Given the description of an element on the screen output the (x, y) to click on. 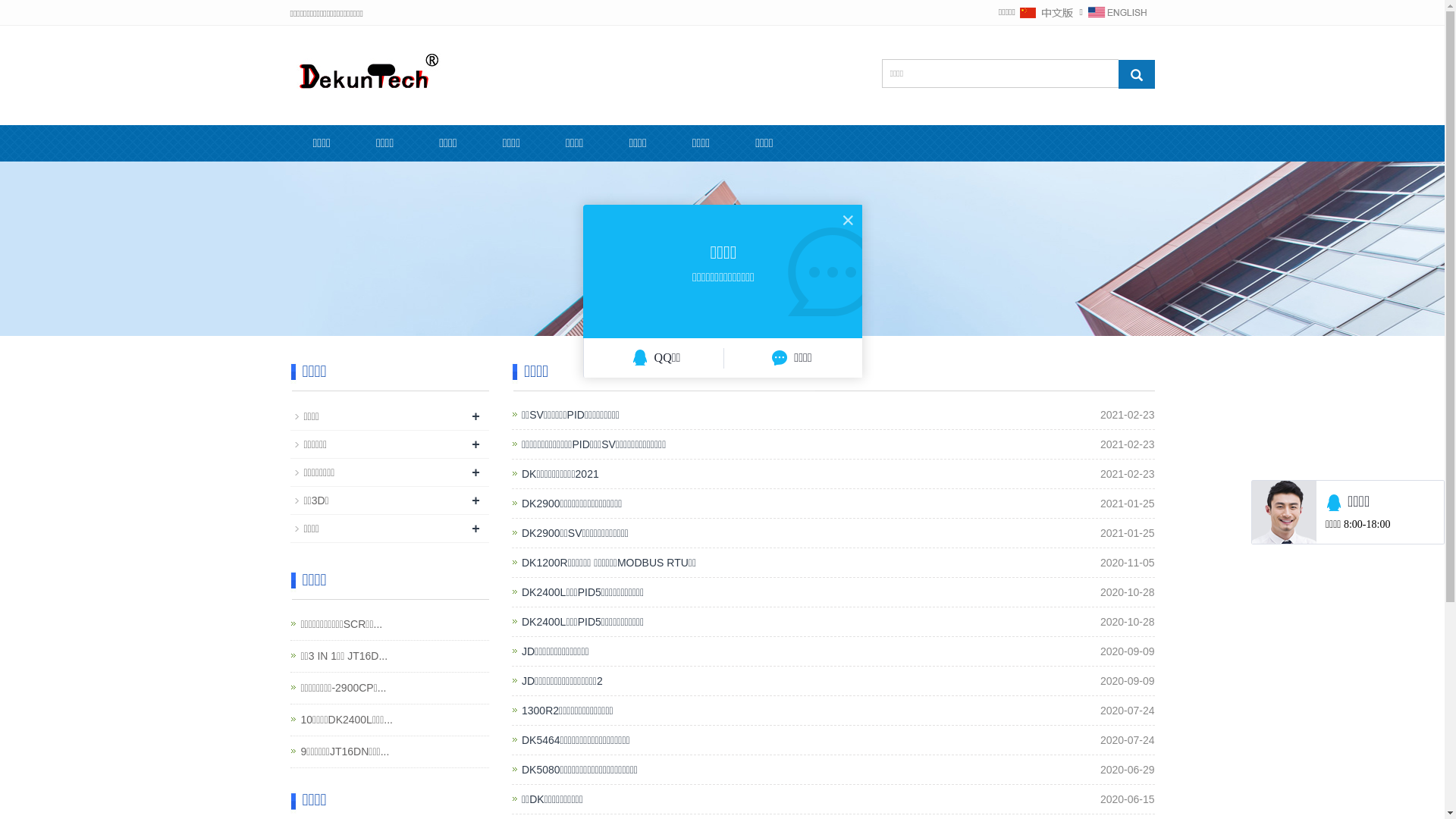
English Element type: hover (1116, 11)
